Given the description of an element on the screen output the (x, y) to click on. 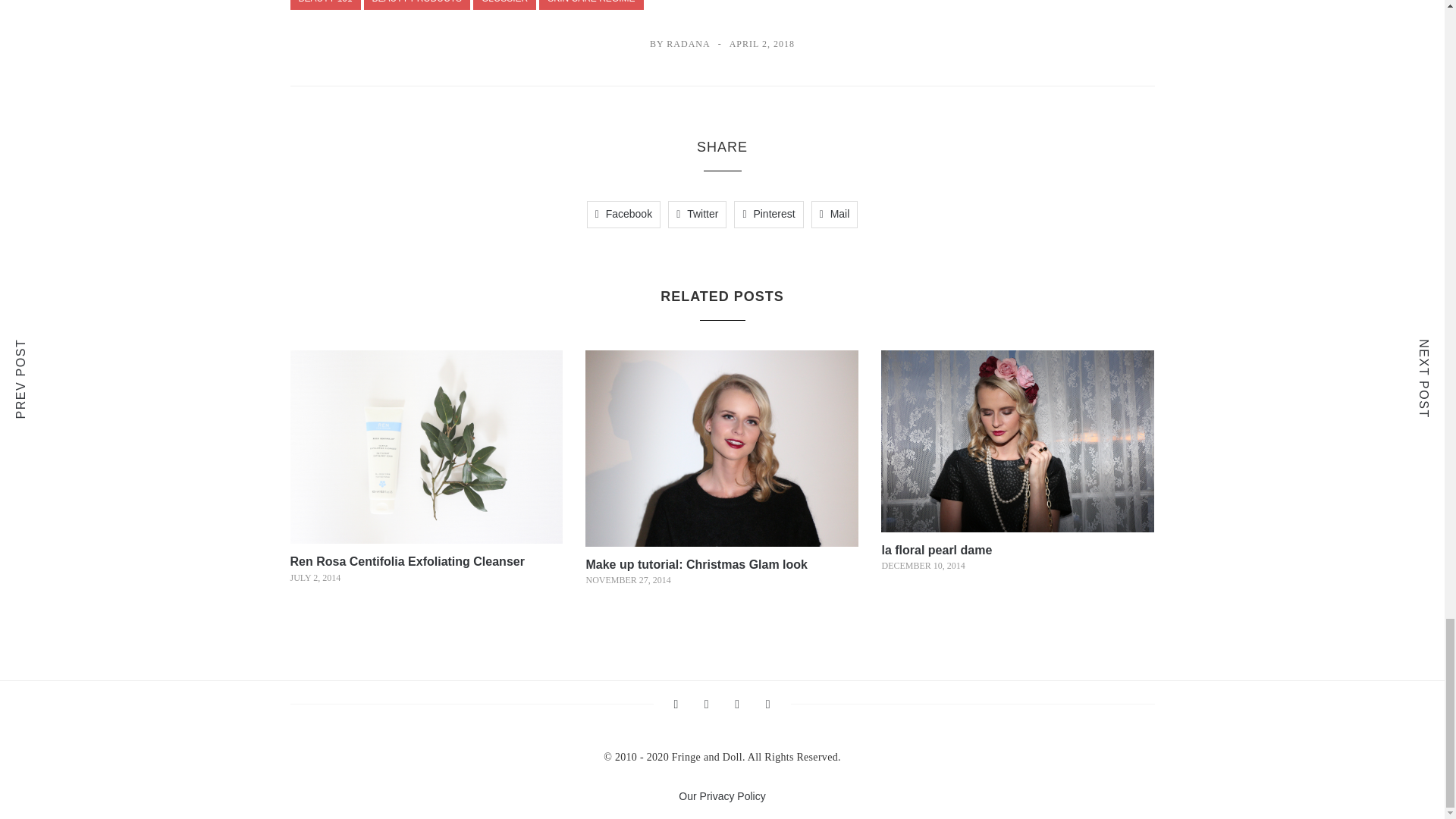
Instagram (675, 703)
Pinterest (768, 703)
BY RADANA (679, 43)
BEAUTY PRODUCTS (417, 4)
Twitter (697, 214)
Facebook (707, 703)
APRIL 2, 2018 (761, 43)
SKIN CARE REGIME (590, 4)
Pinterest (768, 214)
Twitter (737, 703)
Mail (834, 214)
BEAUTY 101 (324, 4)
Facebook (623, 214)
GLOSSIER (504, 4)
